Given the description of an element on the screen output the (x, y) to click on. 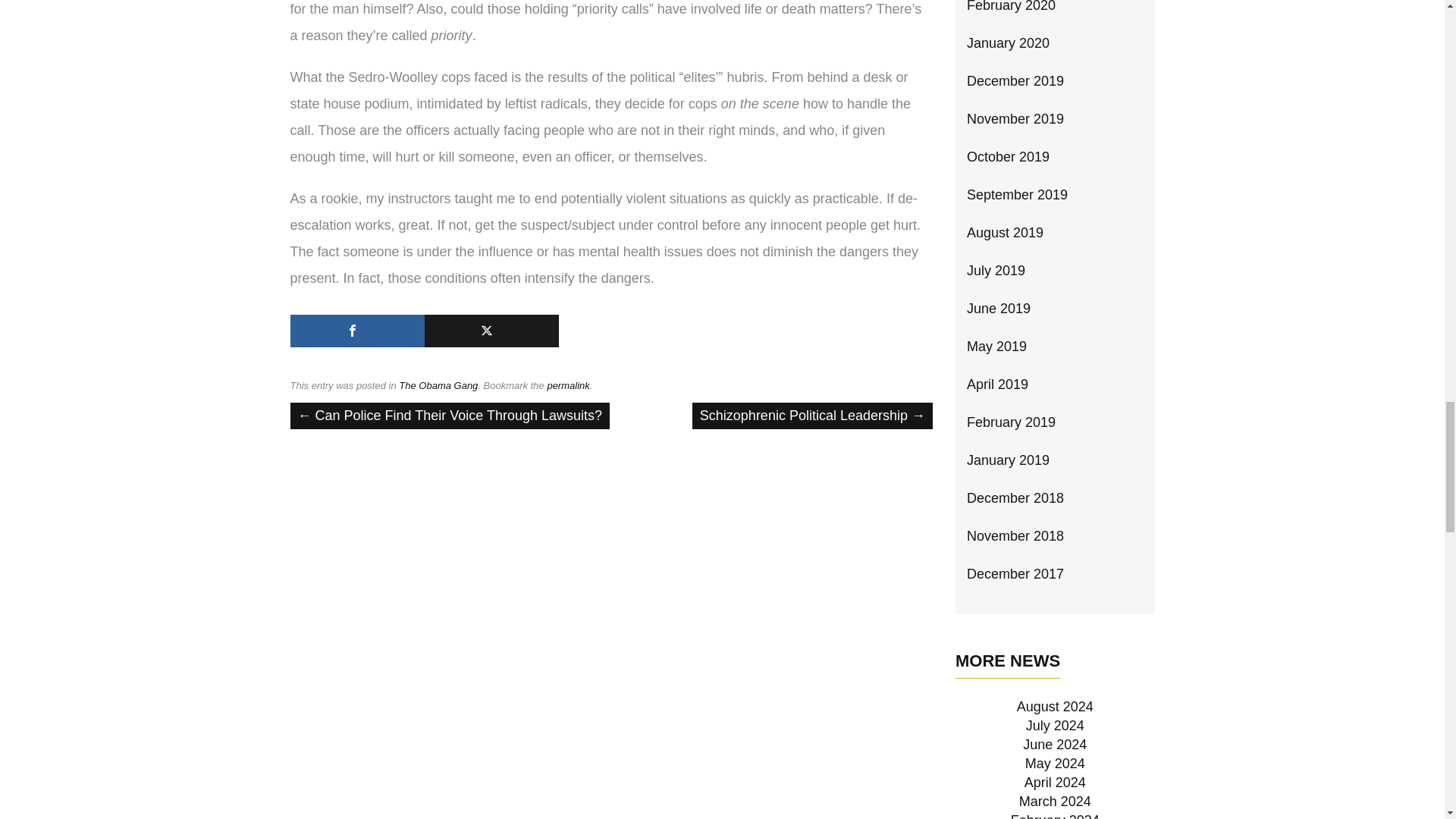
permalink (568, 385)
Share (356, 330)
Tweet (492, 330)
The Obama Gang (437, 385)
